Given the description of an element on the screen output the (x, y) to click on. 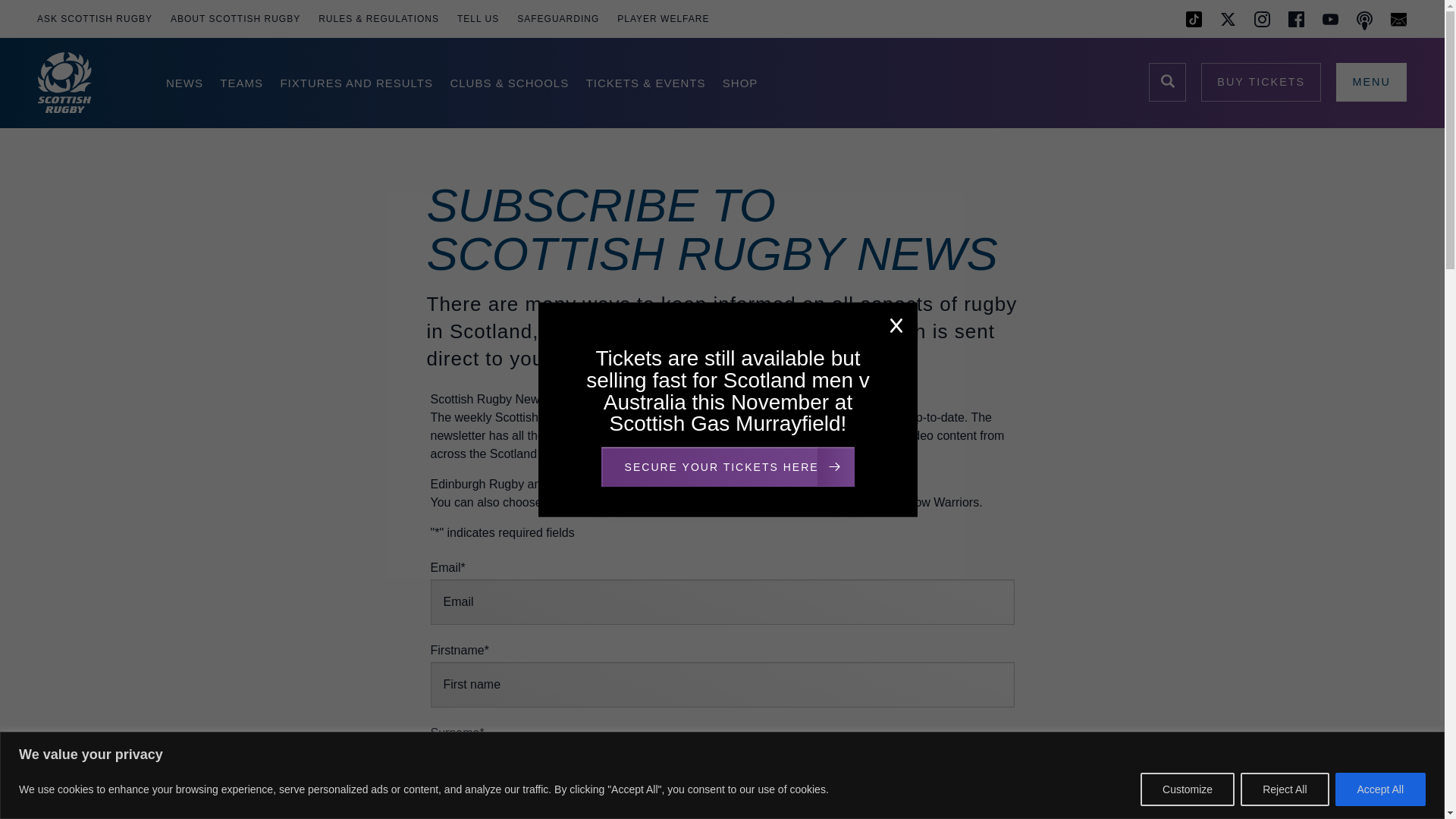
ABOUT SCOTTISH RUGBY (234, 18)
SHOP (740, 83)
FIXTURES AND RESULTS (355, 83)
Home (84, 82)
Click to open site menu (1371, 82)
ASK SCOTTISH RUGBY (92, 18)
SAFEGUARDING (558, 18)
Customize (1187, 788)
Reject All (1283, 788)
NEWS (182, 83)
TEAMS (240, 83)
Accept All (1380, 788)
TELL US (478, 18)
BUY TICKETS (1260, 82)
MENU (1371, 82)
